Given the description of an element on the screen output the (x, y) to click on. 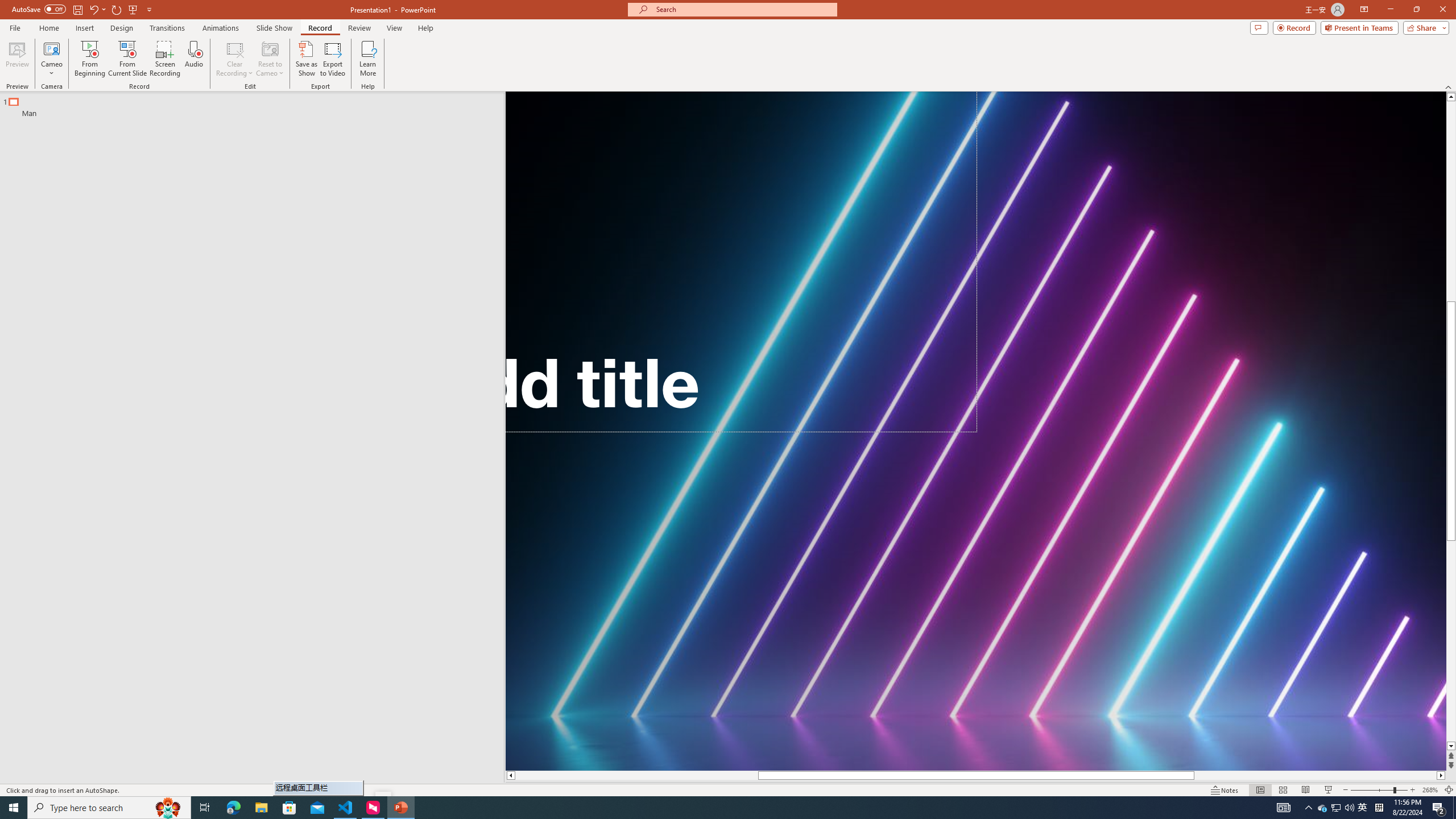
Reset to Cameo (269, 58)
Zoom 268% (1430, 790)
Clear Recording (234, 58)
From Current Slide... (127, 58)
